Given the description of an element on the screen output the (x, y) to click on. 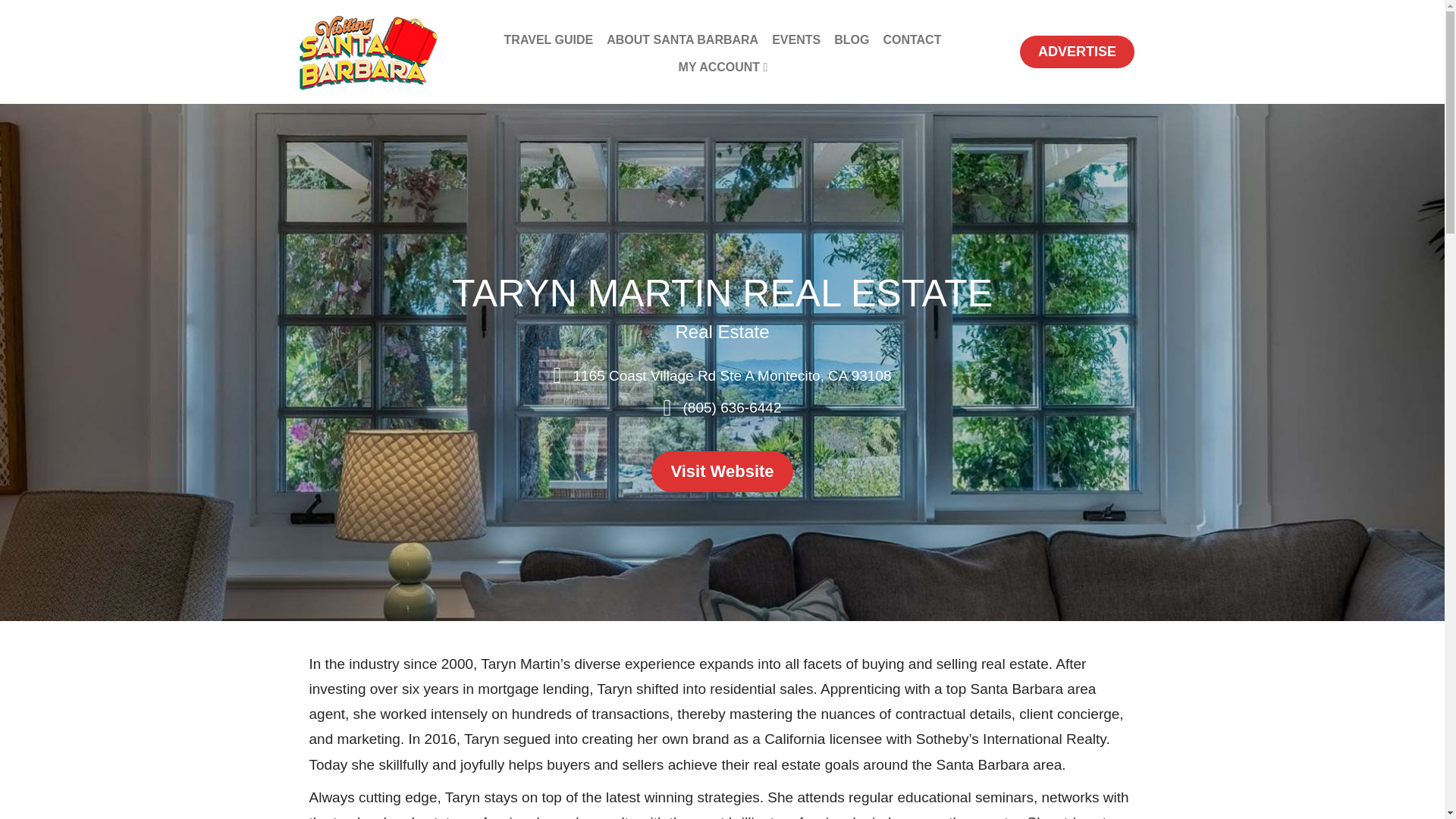
Visit Website (721, 470)
ABOUT SANTA BARBARA (681, 40)
CONTACT (911, 40)
TRAVEL GUIDE (548, 40)
ADVERTISE (1077, 52)
EVENTS (796, 40)
visiting-santa-barbara-logo-186x100 (367, 51)
BLOG (851, 40)
MY ACCOUNT (722, 67)
